Given the description of an element on the screen output the (x, y) to click on. 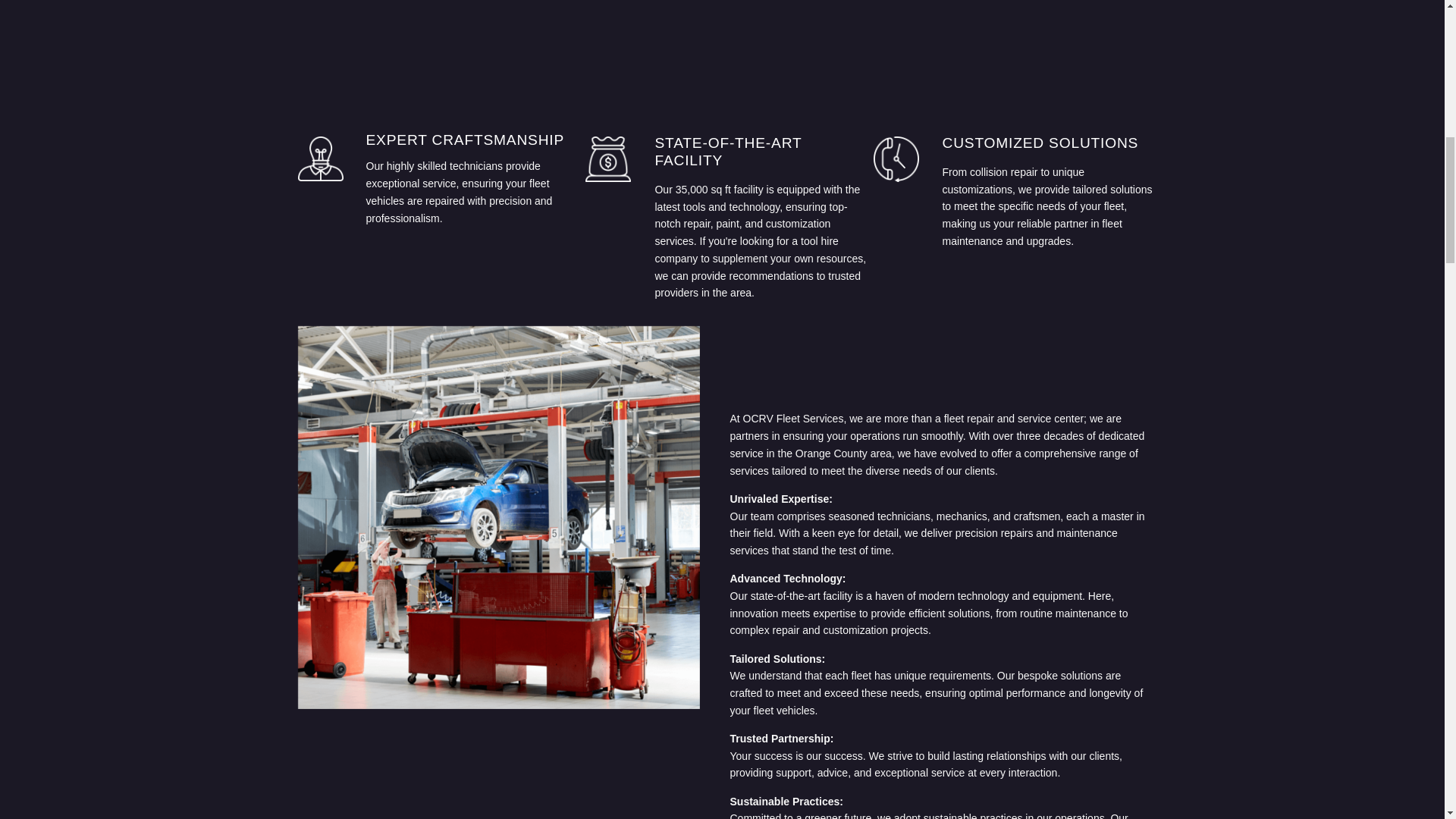
path1960.png (607, 158)
g6675.png (319, 158)
path1030.png (895, 158)
tool hire company (745, 249)
